Given the description of an element on the screen output the (x, y) to click on. 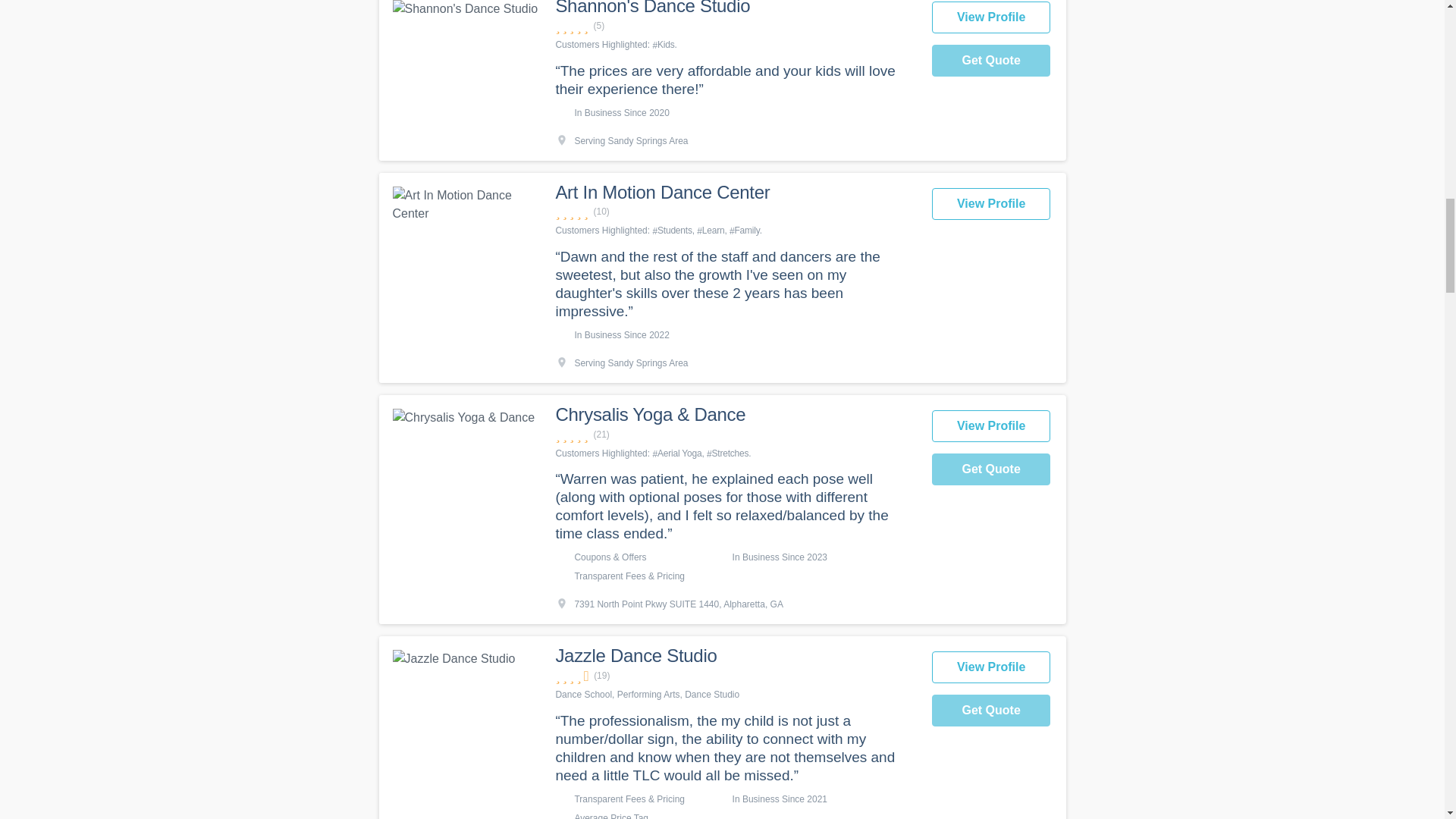
5.0 (734, 25)
5.0 (734, 434)
5.0 (734, 211)
4.4 (734, 676)
